Given the description of an element on the screen output the (x, y) to click on. 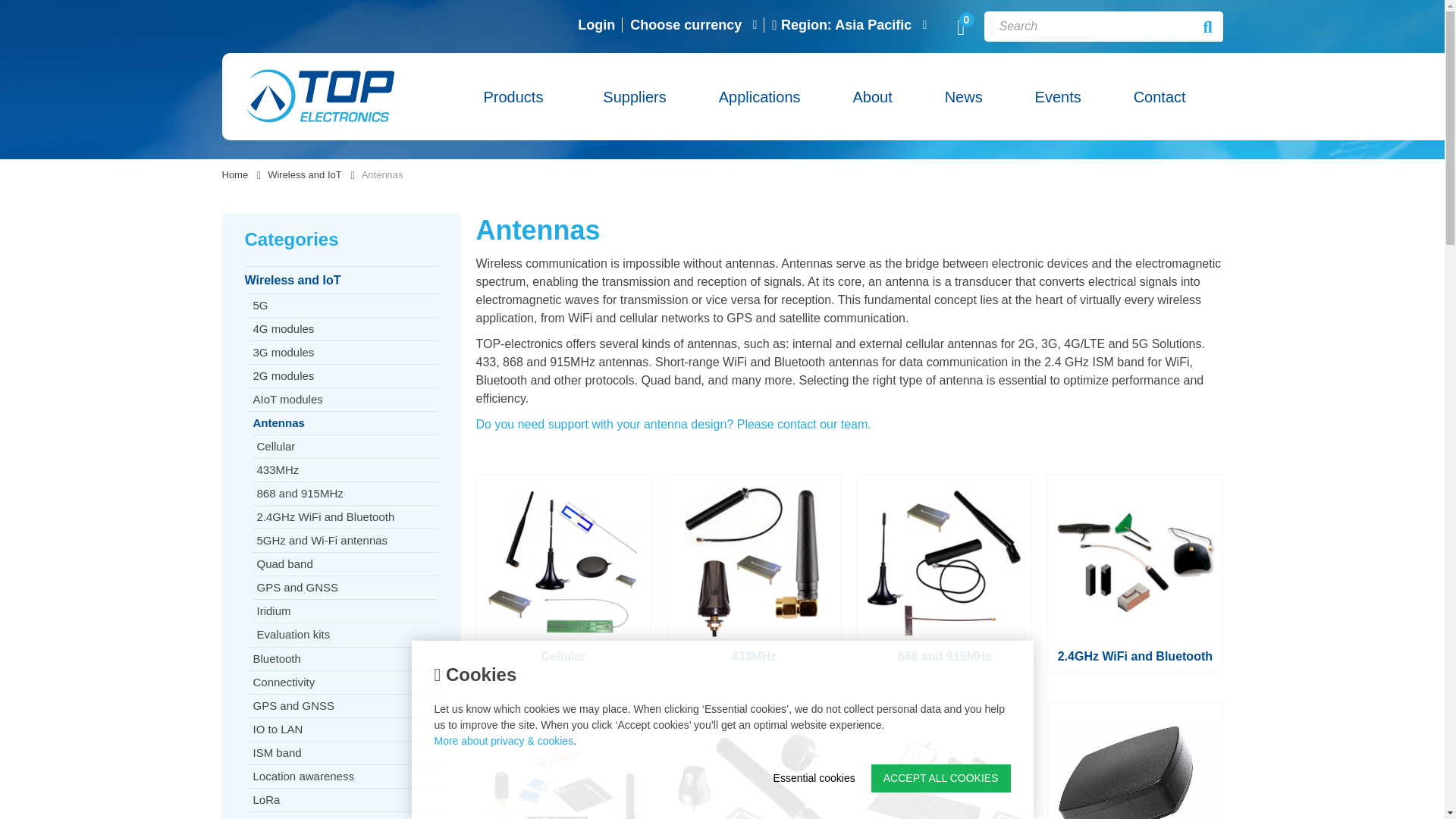
ACCEPT ALL COOKIES (940, 778)
Wireless and IoT (304, 174)
Login (596, 30)
Products (535, 110)
Region: Asia Pacific (841, 30)
Home (234, 174)
Essential cookies (814, 778)
Choose currency (686, 30)
